Given the description of an element on the screen output the (x, y) to click on. 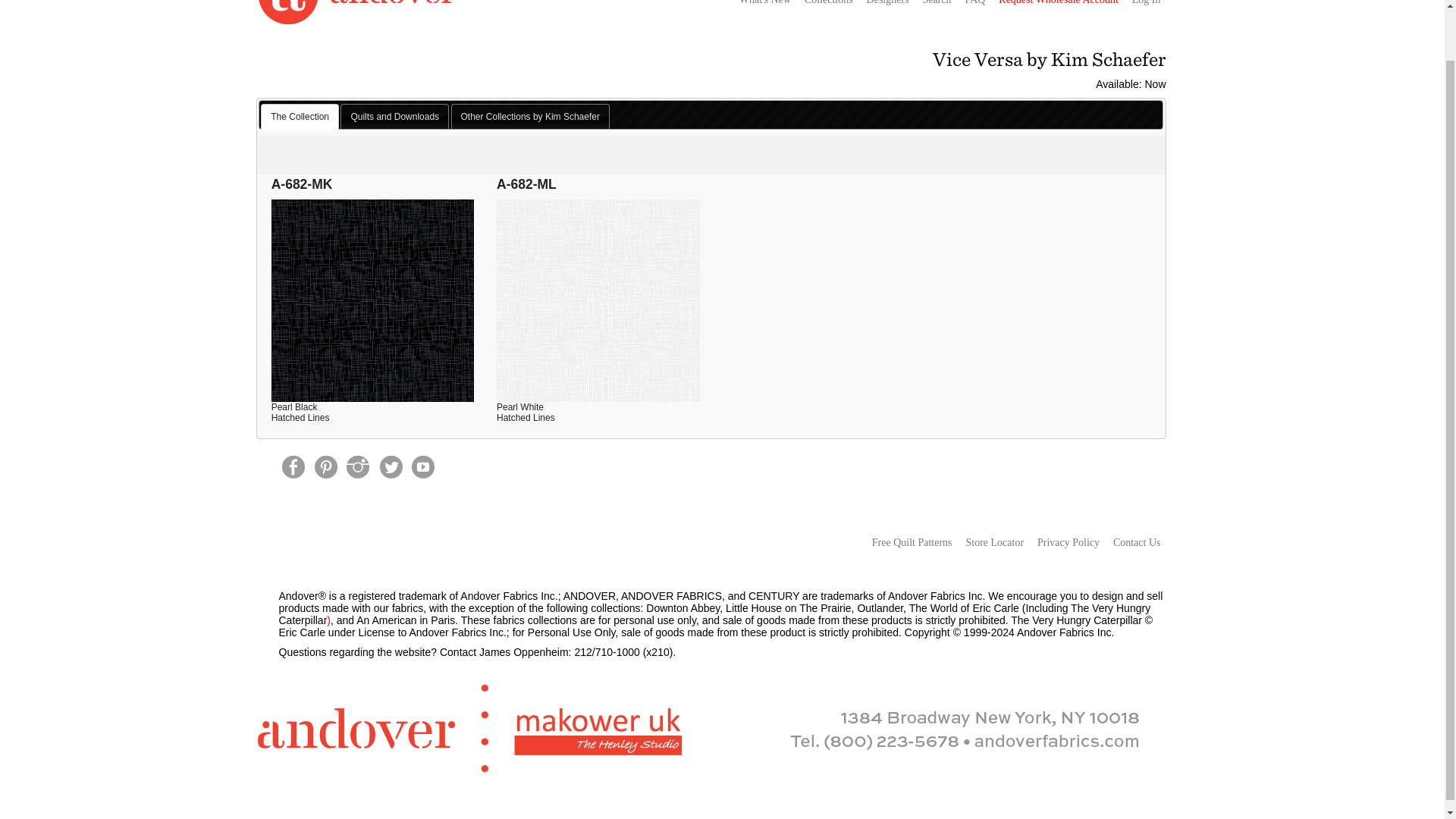
Store Locator (994, 542)
A-682-MK (372, 240)
A-682-ML (598, 240)
Collections (829, 5)
Free Quilt Patterns (912, 542)
A-682-ML (598, 240)
Contact Us (1136, 542)
Other Collections by Kim Schaefer (529, 116)
The Collection (299, 116)
A-682-MK (372, 240)
What's New (764, 5)
FAQ (974, 5)
Quilts and Downloads (394, 116)
Request Wholesale Account (1058, 5)
Designers (887, 5)
